Given the description of an element on the screen output the (x, y) to click on. 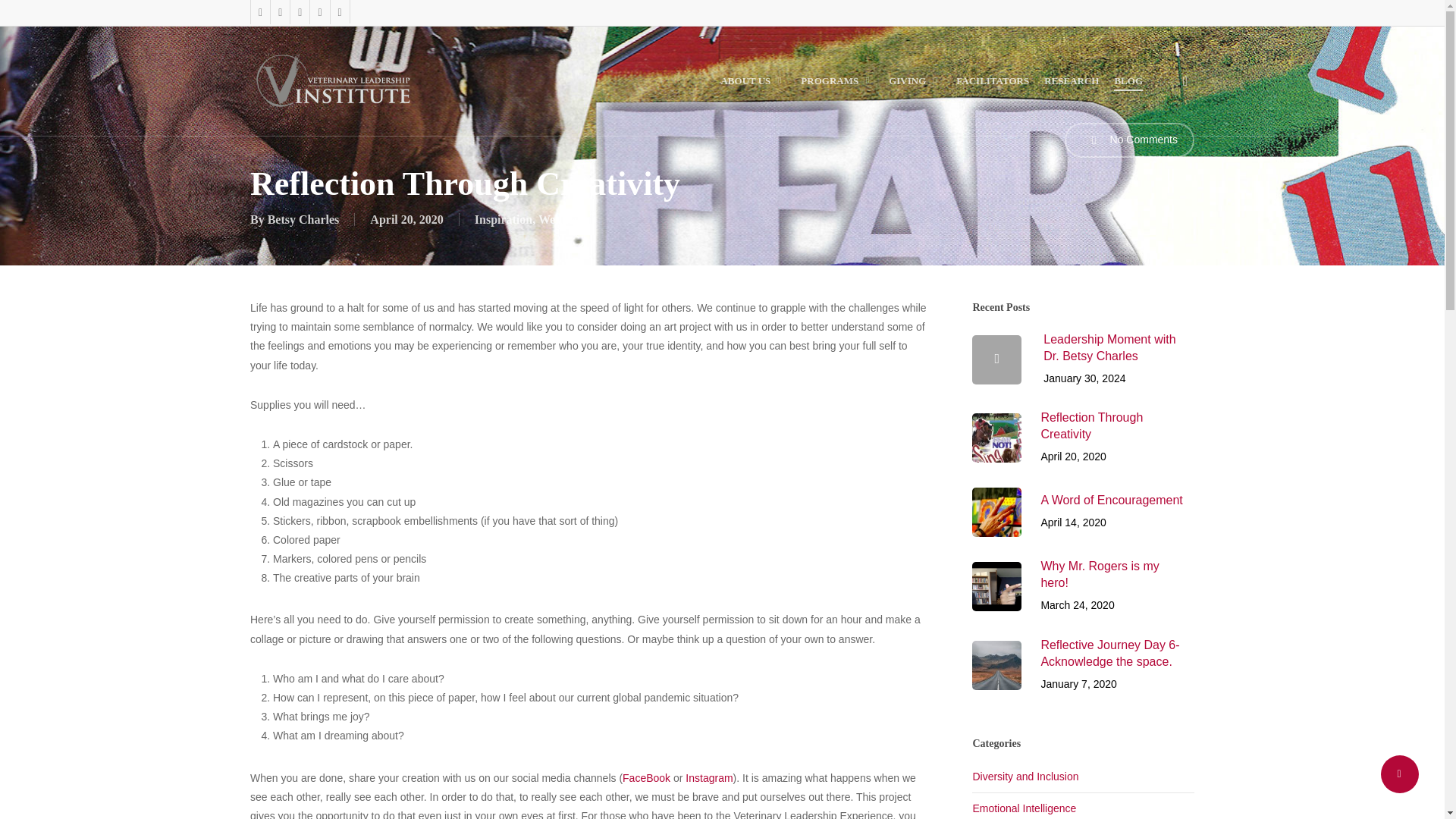
RESEARCH (1071, 80)
FACILITATORS (992, 80)
GIVING (914, 80)
Betsy Charles (303, 219)
search (1184, 80)
ABOUT US (753, 80)
PROGRAMS (836, 80)
Posts by Betsy Charles (303, 219)
Wellness (560, 219)
BLOG (1127, 80)
